Given the description of an element on the screen output the (x, y) to click on. 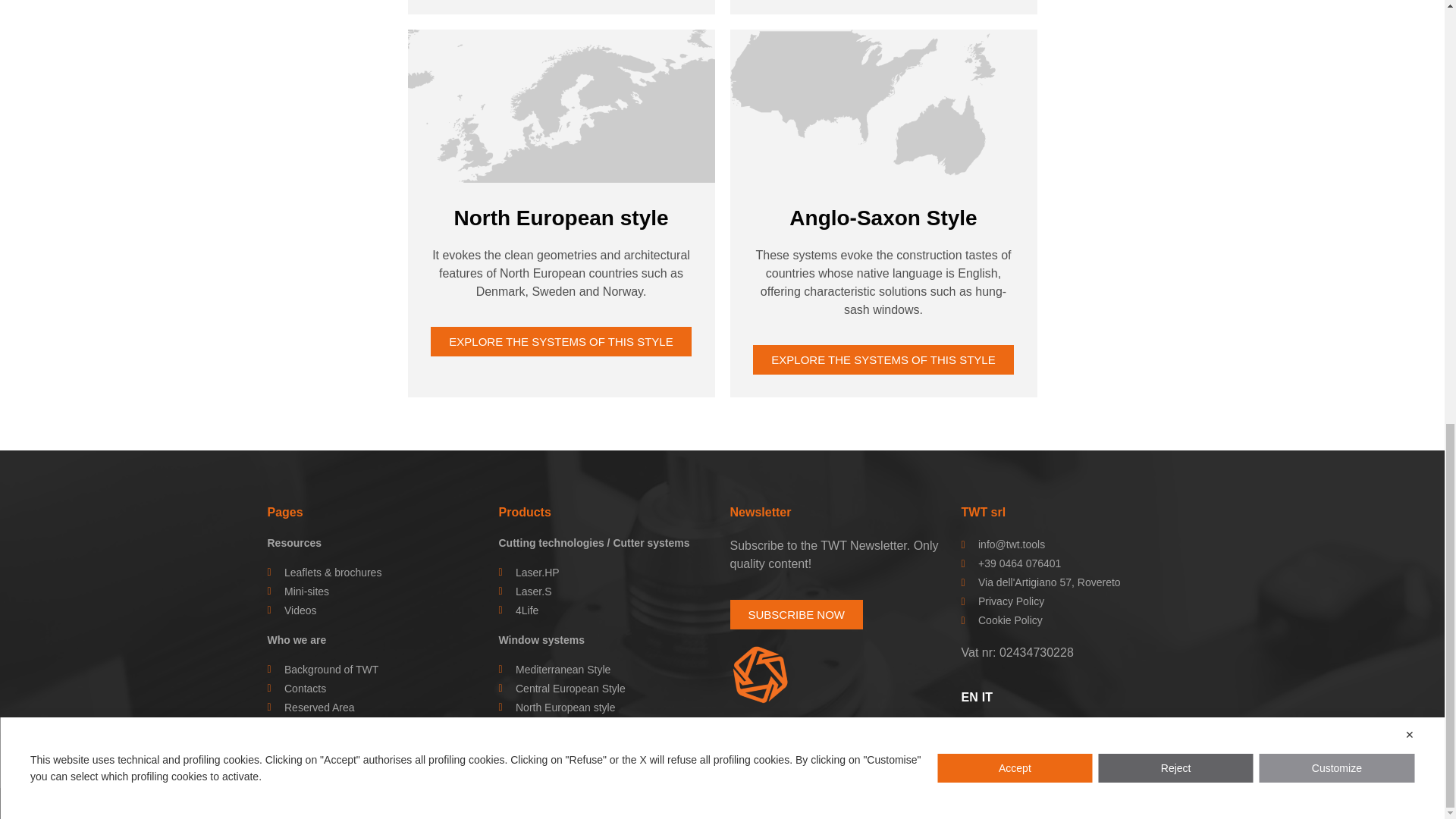
Sistemi-di-infissi-nord-europa-bg-1 (560, 106)
EN (969, 697)
Sistemi-di-infissi-anglosassone-bg-1 (882, 106)
